Given the description of an element on the screen output the (x, y) to click on. 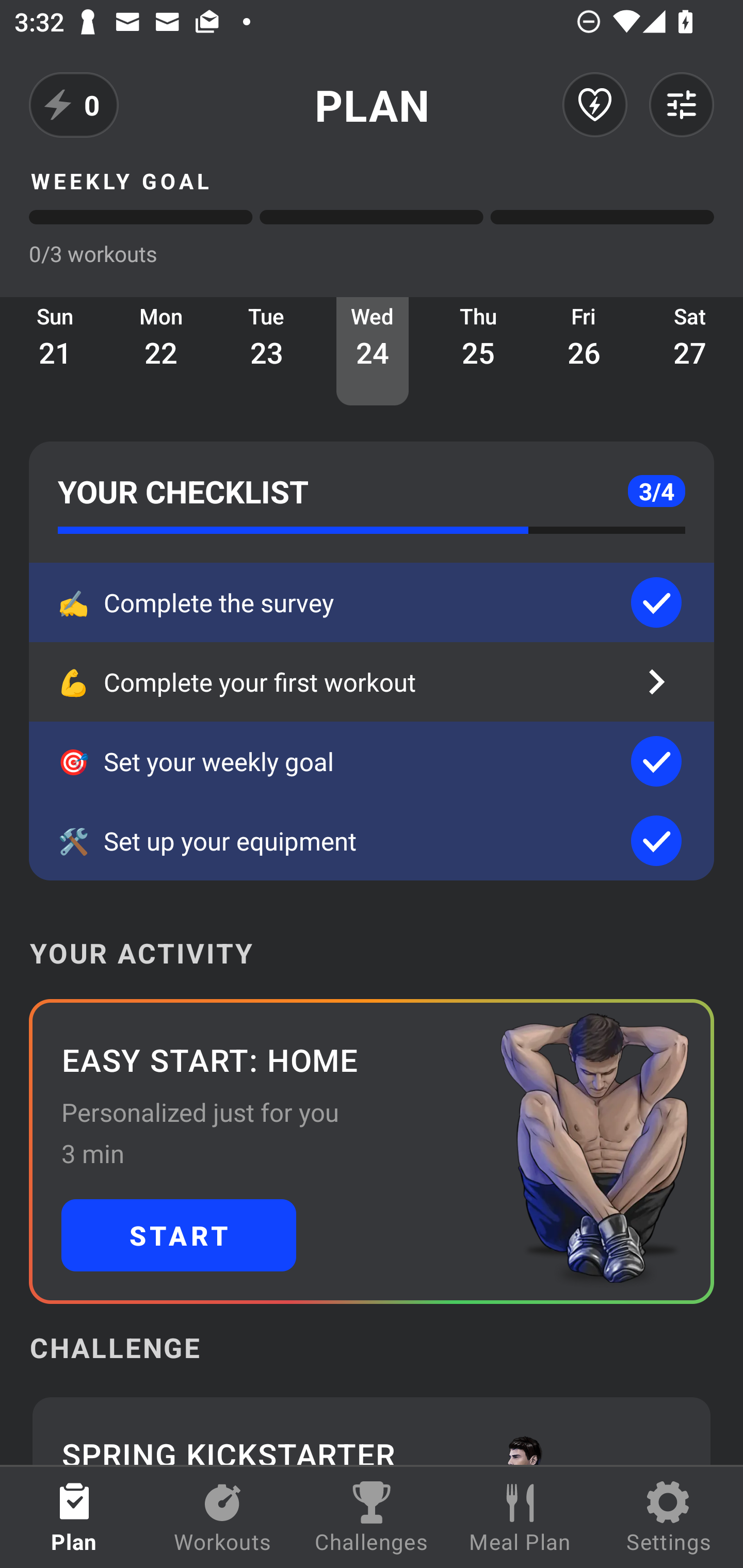
0 (73, 104)
Sun 21 (55, 351)
Mon 22 (160, 351)
Tue 23 (266, 351)
Wed 24 (372, 351)
Thu 25 (478, 351)
Fri 26 (584, 351)
Sat 27 (690, 351)
💪 Complete your first workout (371, 681)
START (178, 1235)
 Workouts  (222, 1517)
 Challenges  (371, 1517)
 Meal Plan  (519, 1517)
 Settings  (668, 1517)
